Given the description of an element on the screen output the (x, y) to click on. 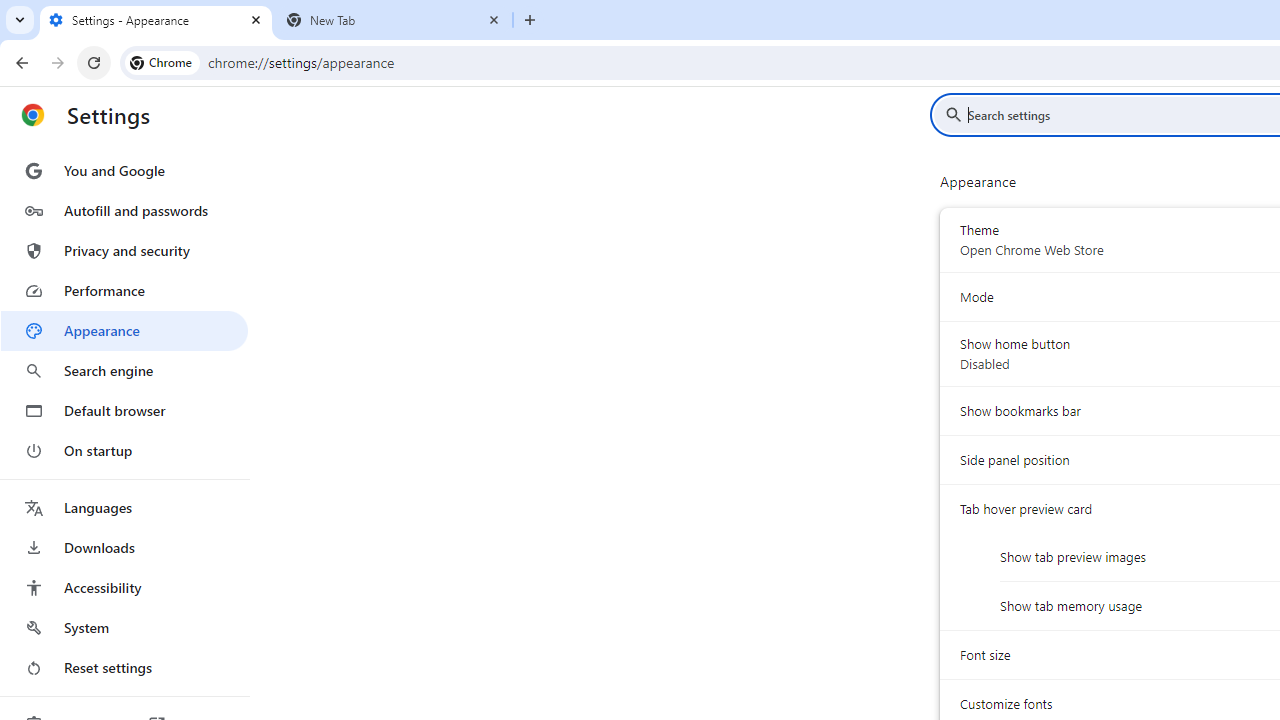
Settings - Appearance (156, 20)
Accessibility (124, 587)
Close (494, 19)
Forward (57, 62)
Languages (124, 507)
Search engine (124, 370)
Reset settings (124, 668)
Performance (124, 290)
New Tab (529, 20)
